Given the description of an element on the screen output the (x, y) to click on. 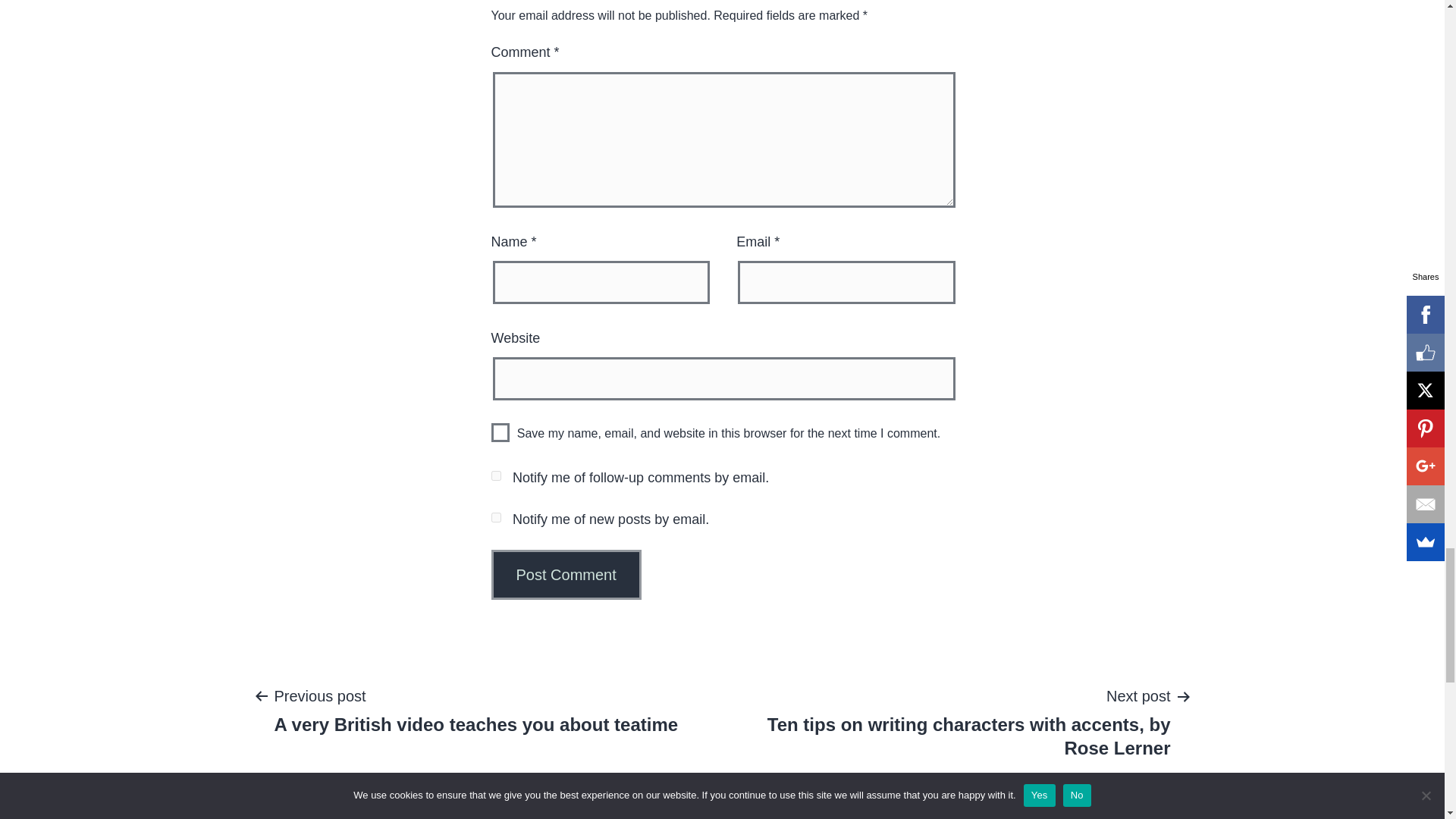
Post Comment (567, 574)
yes (500, 432)
